Given the description of an element on the screen output the (x, y) to click on. 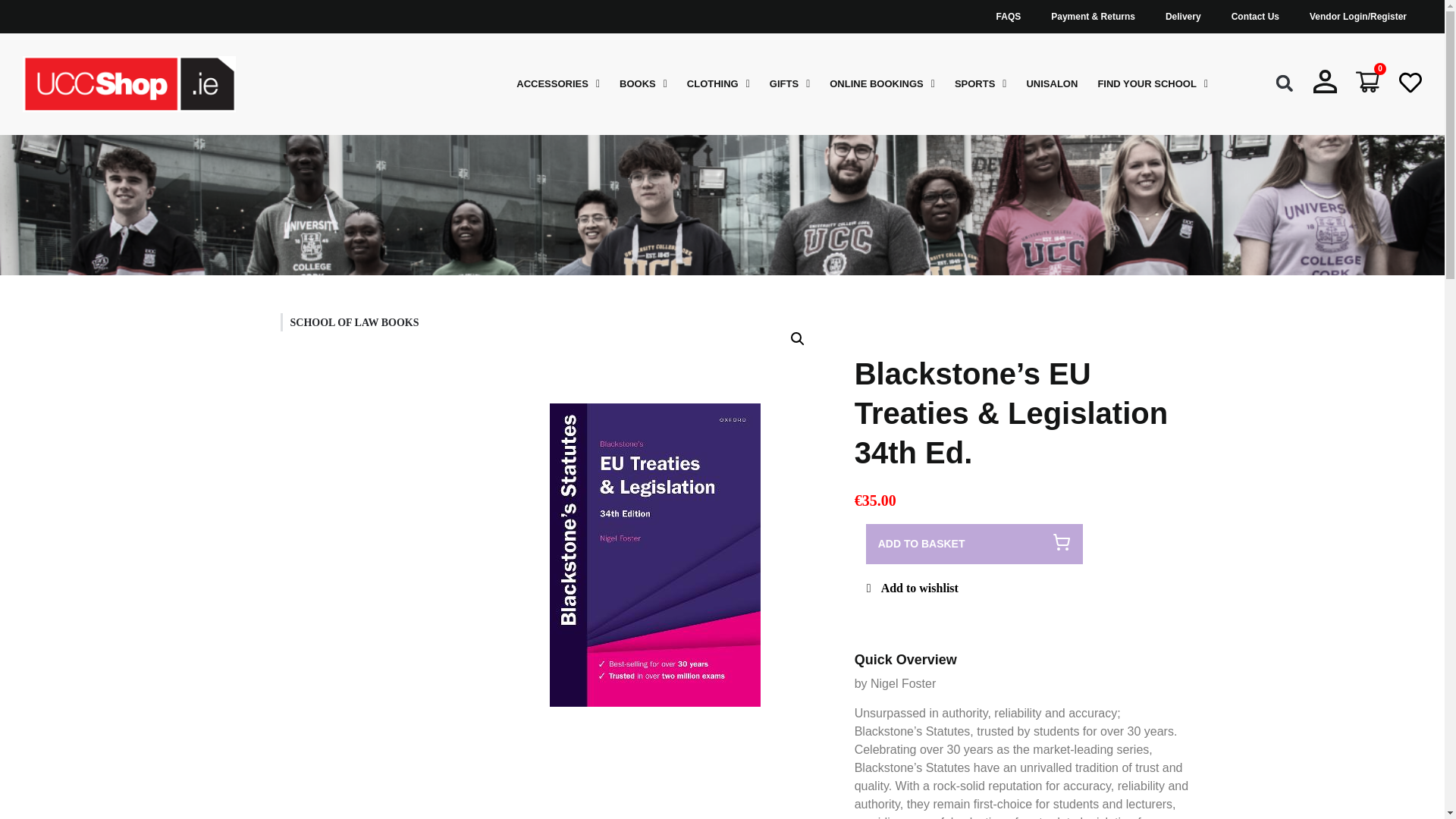
Contact Us (1254, 16)
Delivery (1182, 16)
ACCESSORIES (558, 84)
FAQS (1008, 16)
BOOKS (643, 84)
